Given the description of an element on the screen output the (x, y) to click on. 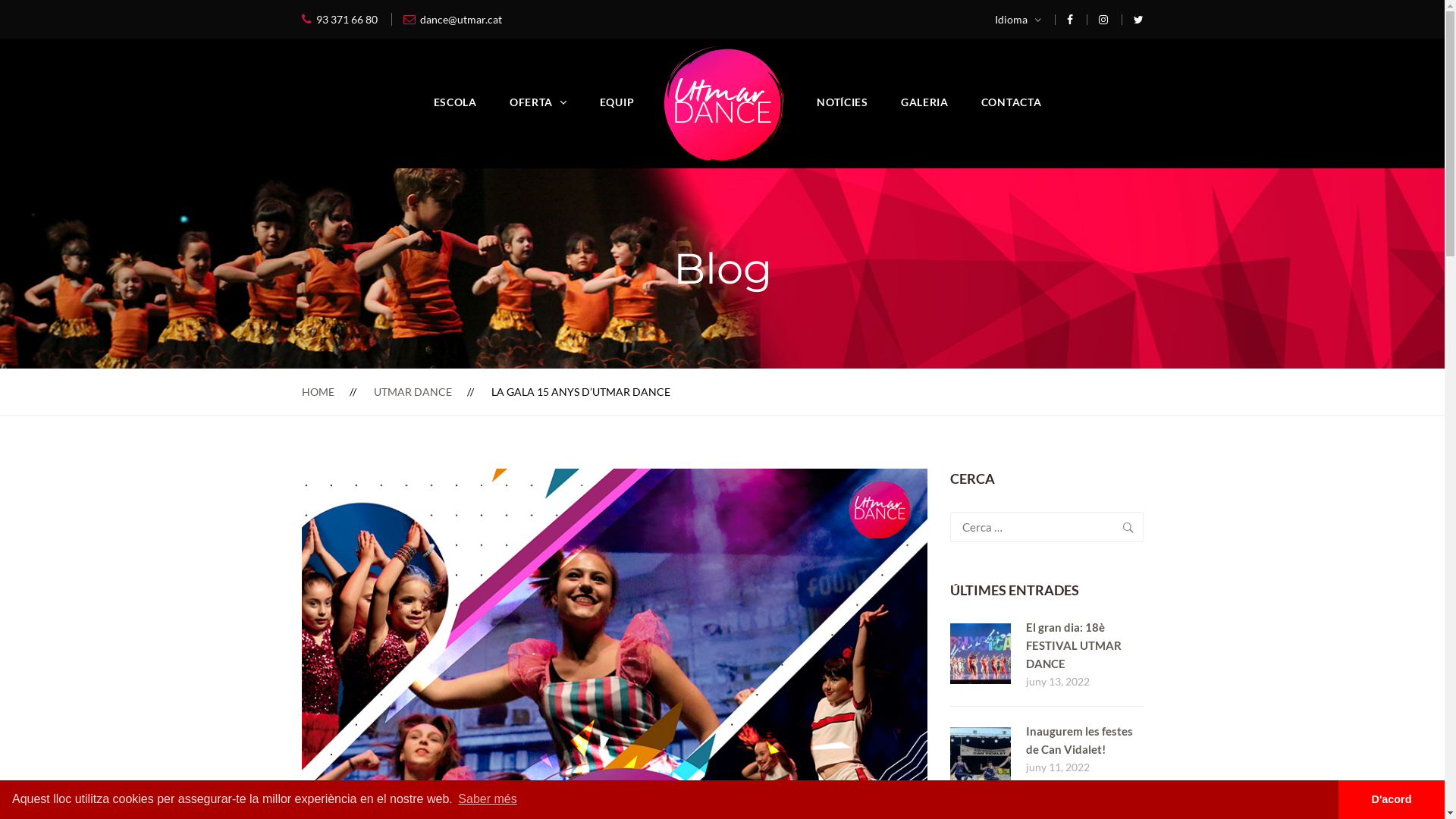
Cerca Element type: text (1128, 526)
Idioma Element type: text (1017, 18)
Utmar Dance Element type: hover (724, 103)
CONTACTA Element type: text (1011, 101)
UTMAR DANCE Element type: text (412, 391)
ESCOLA Element type: text (455, 101)
HOME Element type: text (317, 391)
EQUIP Element type: text (616, 101)
GALERIA Element type: text (924, 101)
Inaugurem les festes de Can Vidalet! Element type: text (1078, 740)
OFERTA Element type: text (538, 101)
